Given the description of an element on the screen output the (x, y) to click on. 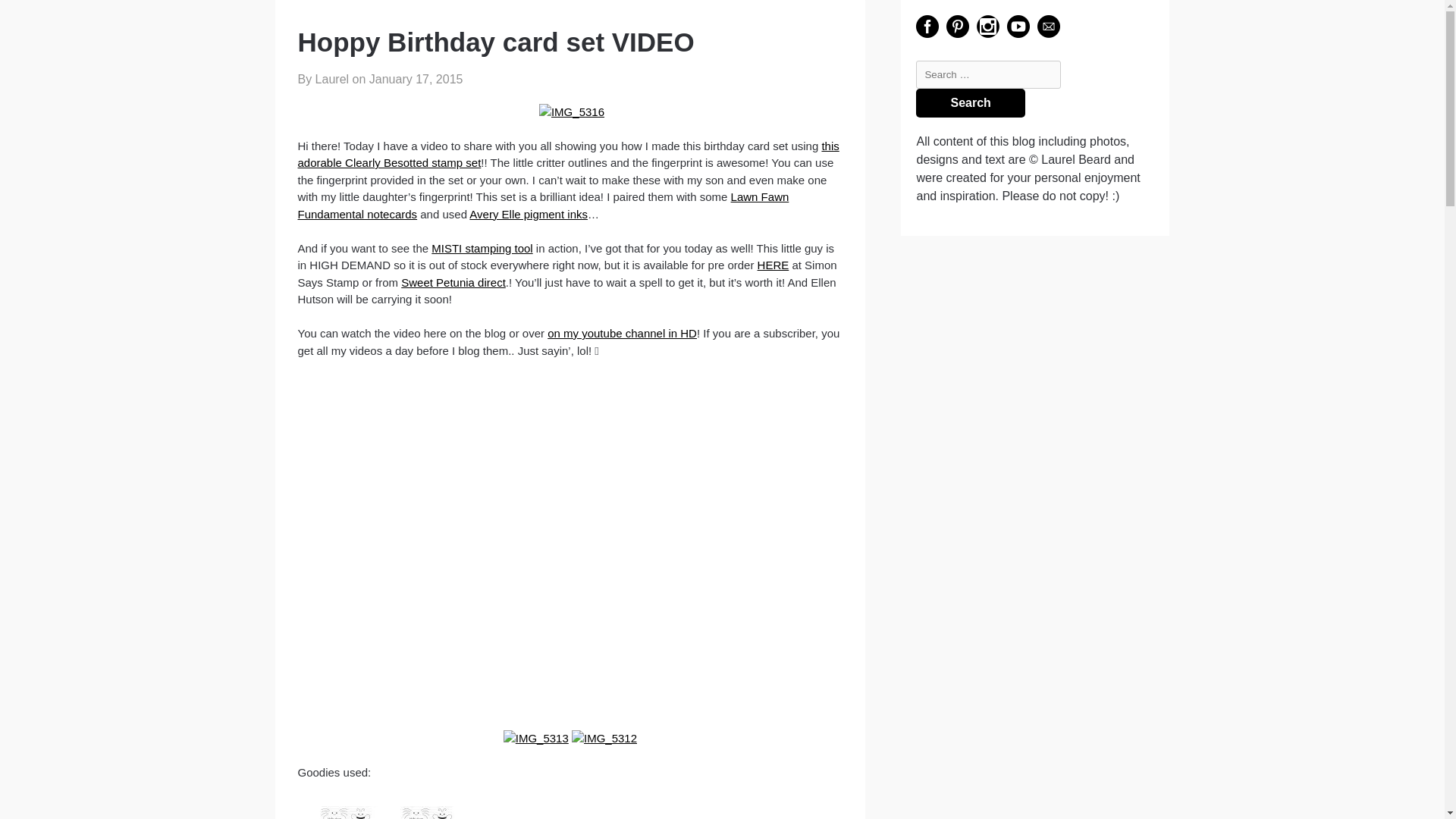
Search (970, 102)
on my youtube channel in HD (622, 332)
January 17, 2015 (416, 78)
HERE (773, 264)
Sweet Petunia direct (453, 282)
Lawn Fawn Fundamental notecards (543, 205)
Search (970, 102)
MISTI stamping tool (481, 246)
Avery Elle pigment inks (528, 214)
this adorable Clearly Besotted stamp set (567, 154)
